Given the description of an element on the screen output the (x, y) to click on. 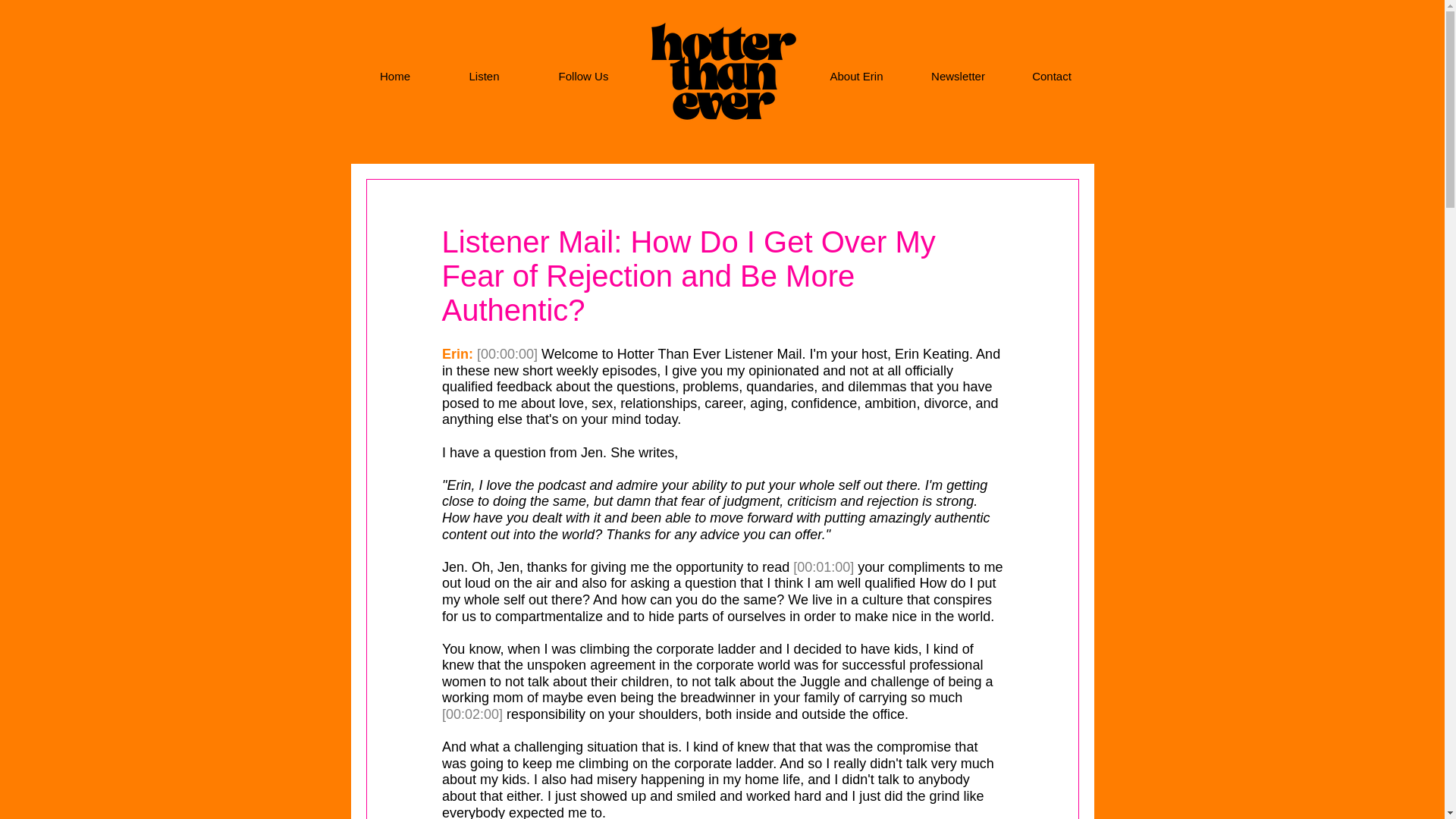
Follow Us (584, 76)
Contact (1052, 76)
Newsletter (958, 76)
Home (394, 76)
Listen (484, 76)
About Erin (856, 76)
